Given the description of an element on the screen output the (x, y) to click on. 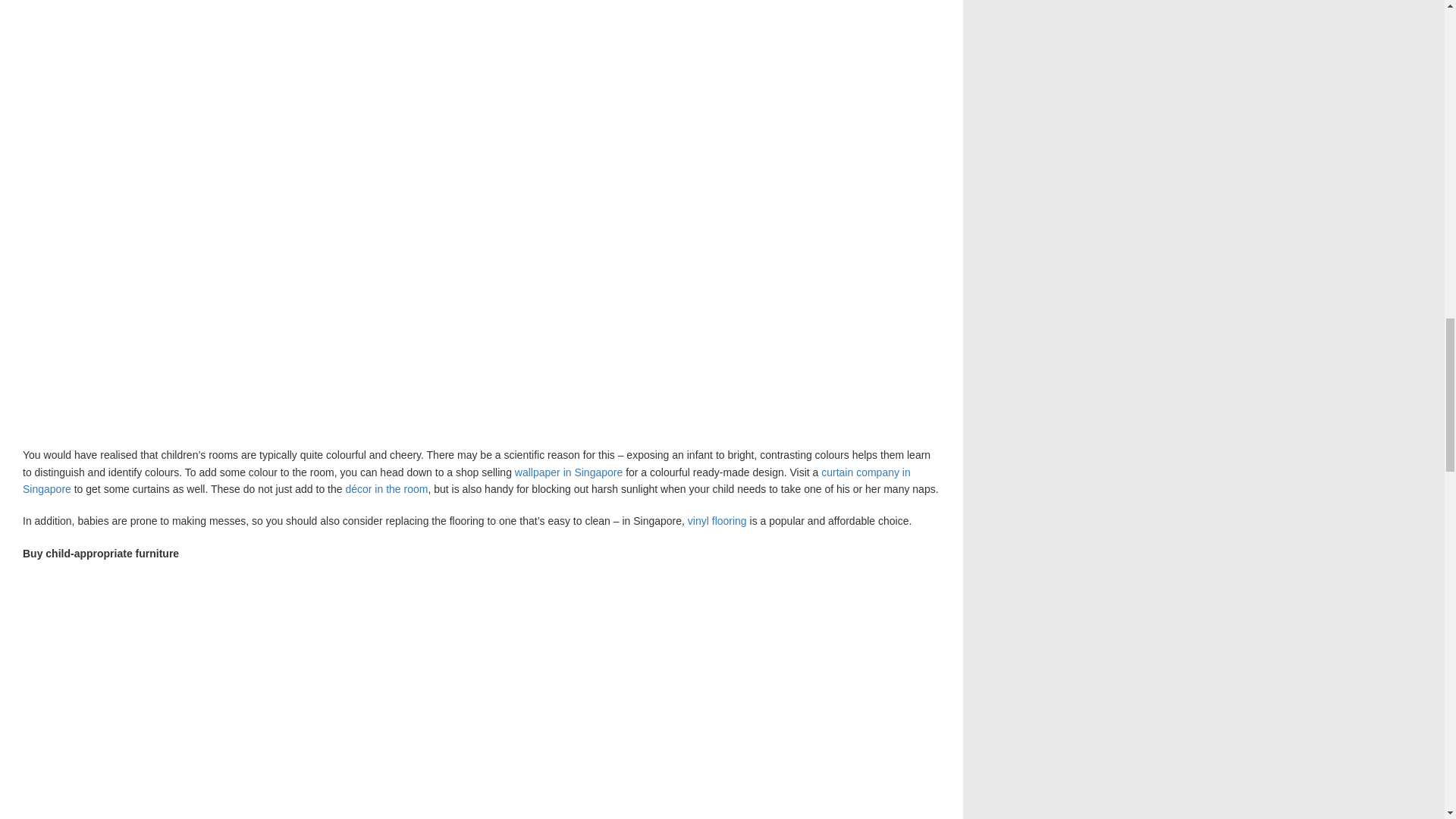
wallpaper in Singapore (569, 472)
Singapore Luxury Vinyl Flooring, Singapore Vinyl Flooring (716, 521)
Singapore Curtain Company (467, 480)
curtain company in Singapore (467, 480)
Wallpaper Singapore (569, 472)
What To Consider When Decorating A Room For Twins (386, 489)
